Given the description of an element on the screen output the (x, y) to click on. 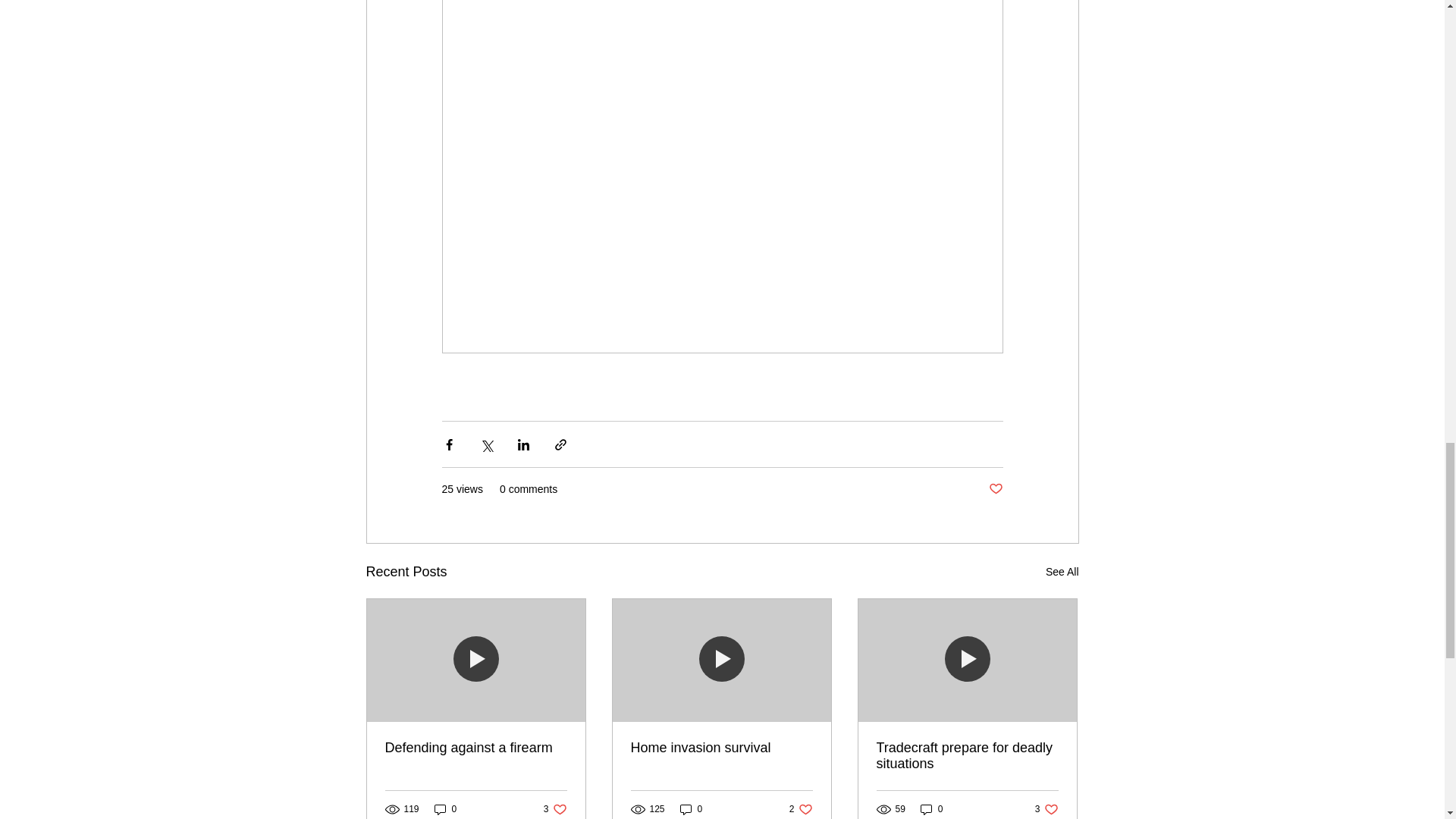
Defending against a firearm (476, 747)
See All (1061, 572)
Post not marked as liked (995, 489)
0 (445, 809)
